Given the description of an element on the screen output the (x, y) to click on. 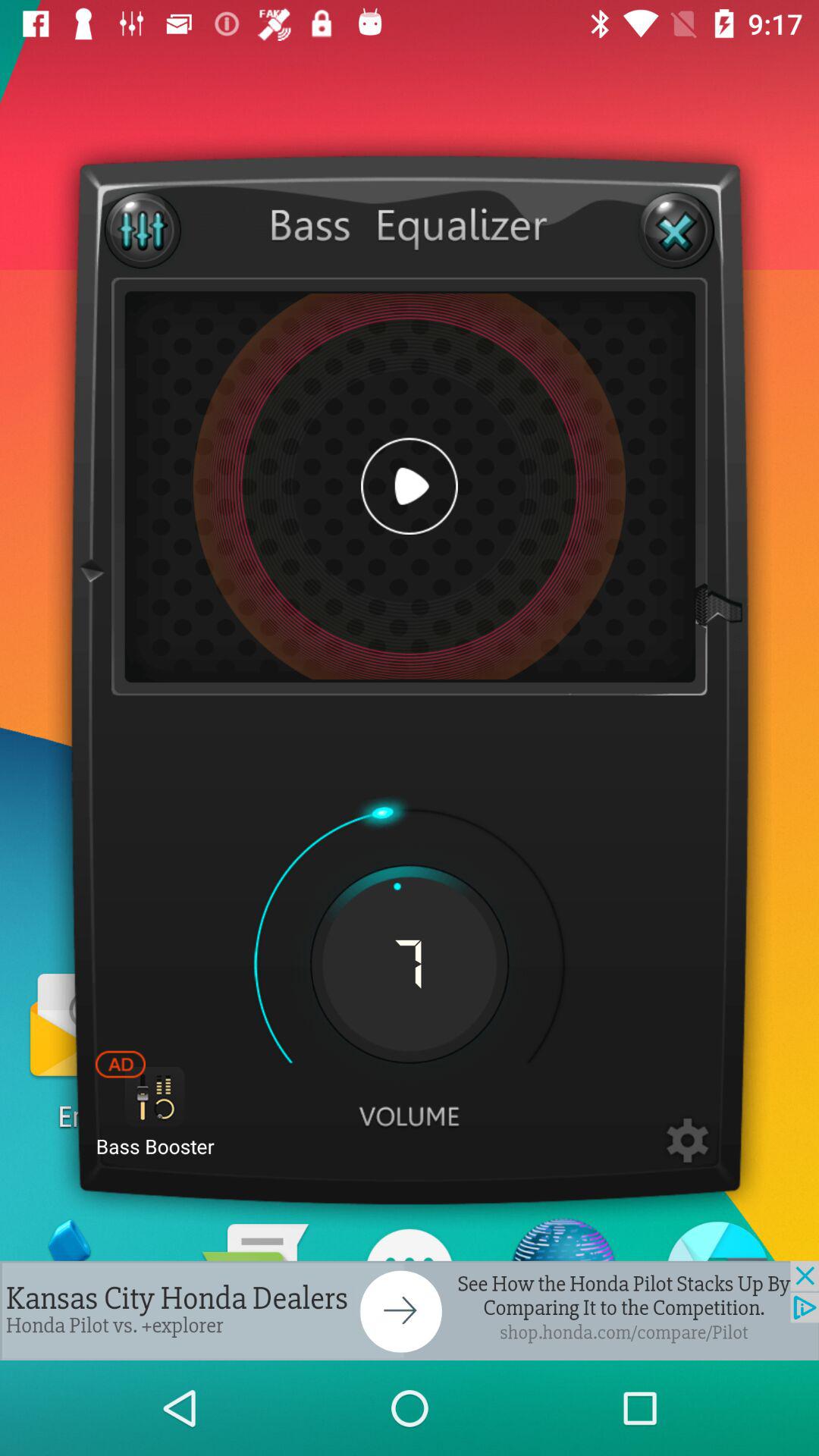
go to advertisement page (409, 1310)
